Given the description of an element on the screen output the (x, y) to click on. 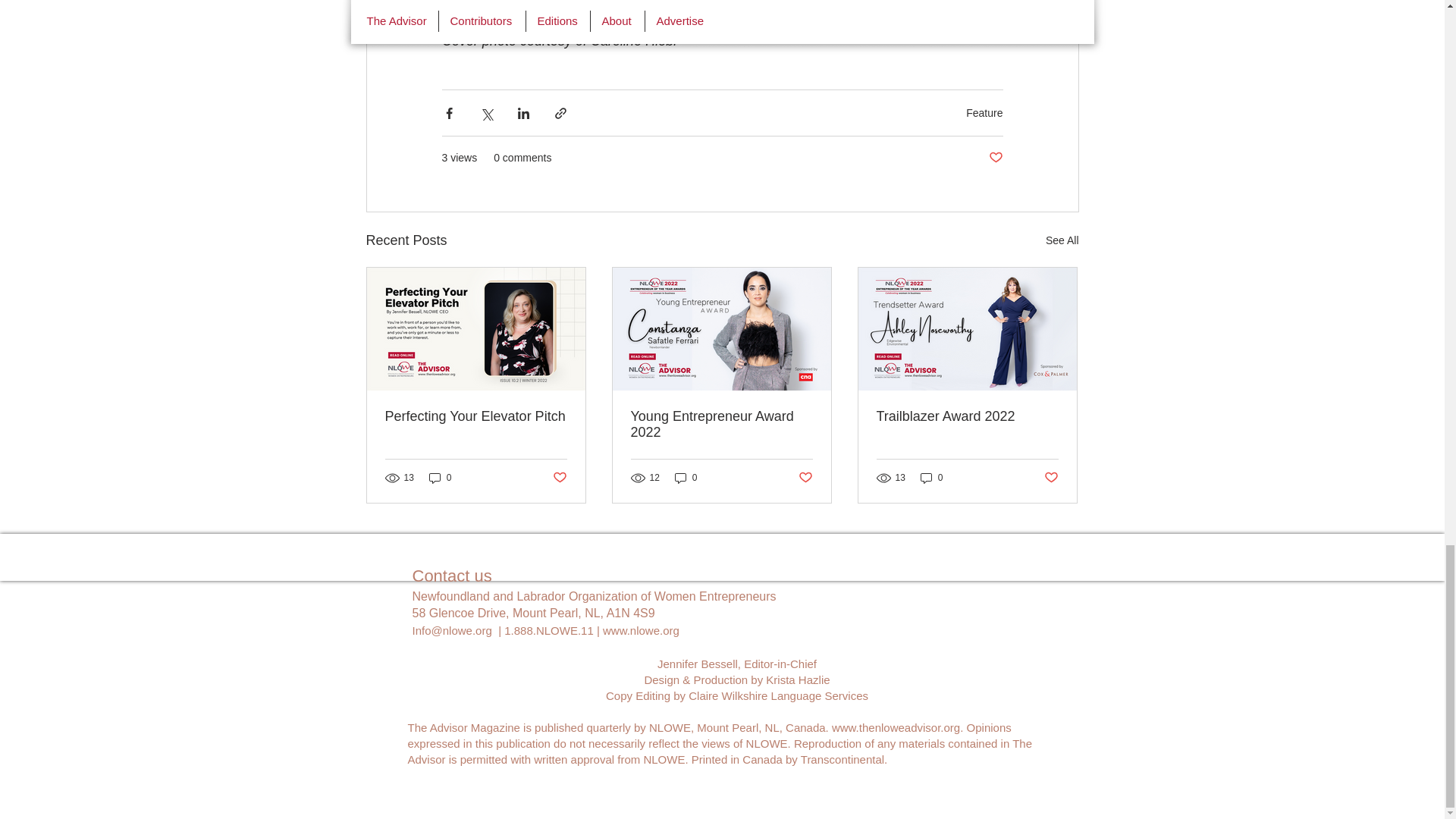
Young Entrepreneur Award 2022 (721, 424)
Perfecting Your Elevator Pitch (476, 416)
Feature (984, 112)
Trailblazer Award 2022 (967, 416)
See All (1061, 240)
Post not marked as liked (1050, 478)
Post not marked as liked (995, 157)
Post not marked as liked (804, 478)
Post not marked as liked (558, 478)
0 (931, 477)
0 (440, 477)
0 (685, 477)
